Given the description of an element on the screen output the (x, y) to click on. 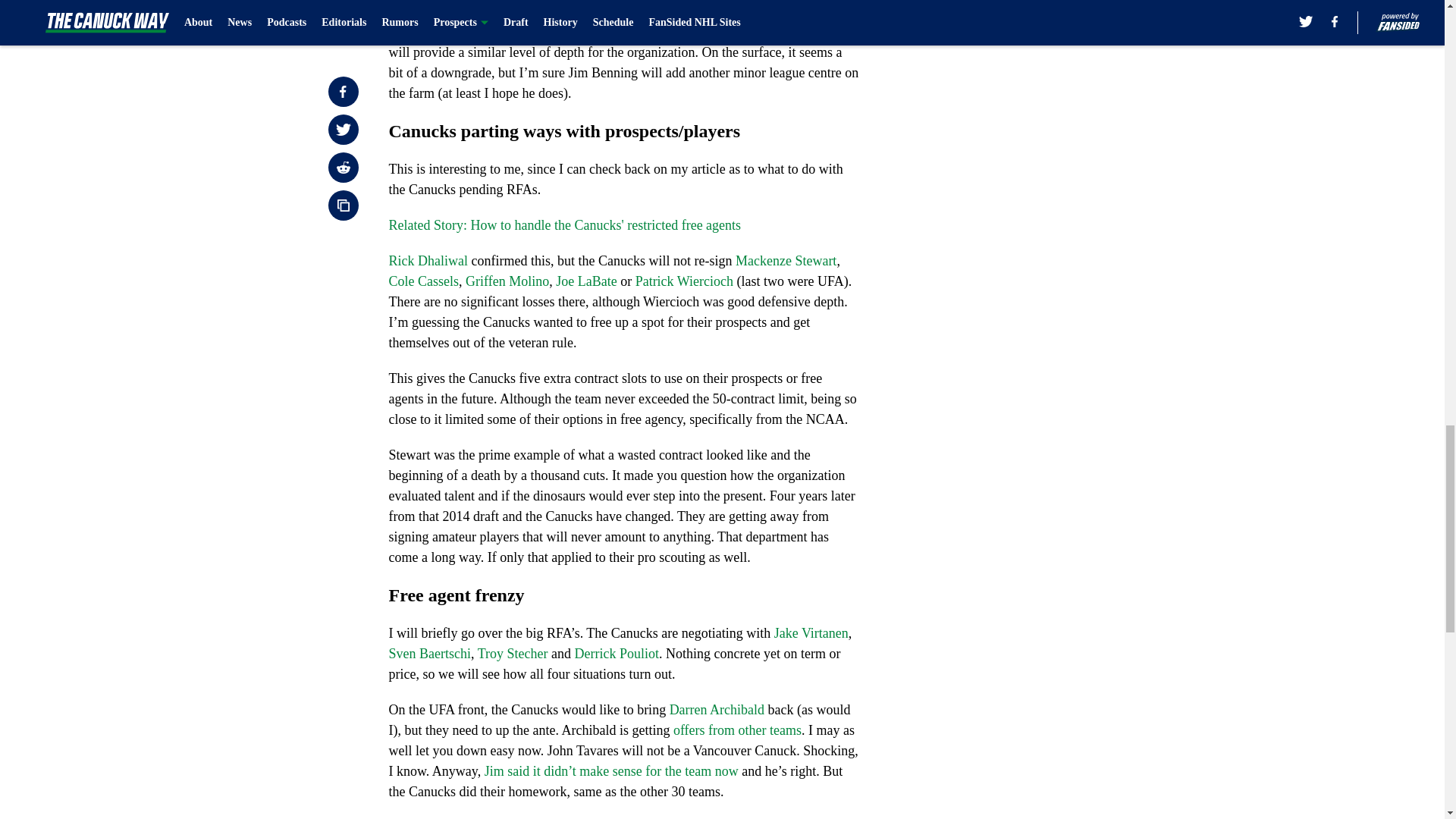
Cole Cassels (423, 281)
Sven Baertschi (429, 653)
Patrick Wiercioch (683, 281)
Rick Dhaliwal (427, 260)
Joe LaBate (585, 281)
Jake Virtanen (811, 632)
Mackenze Stewart (785, 260)
Griffen Molino (506, 281)
